Given the description of an element on the screen output the (x, y) to click on. 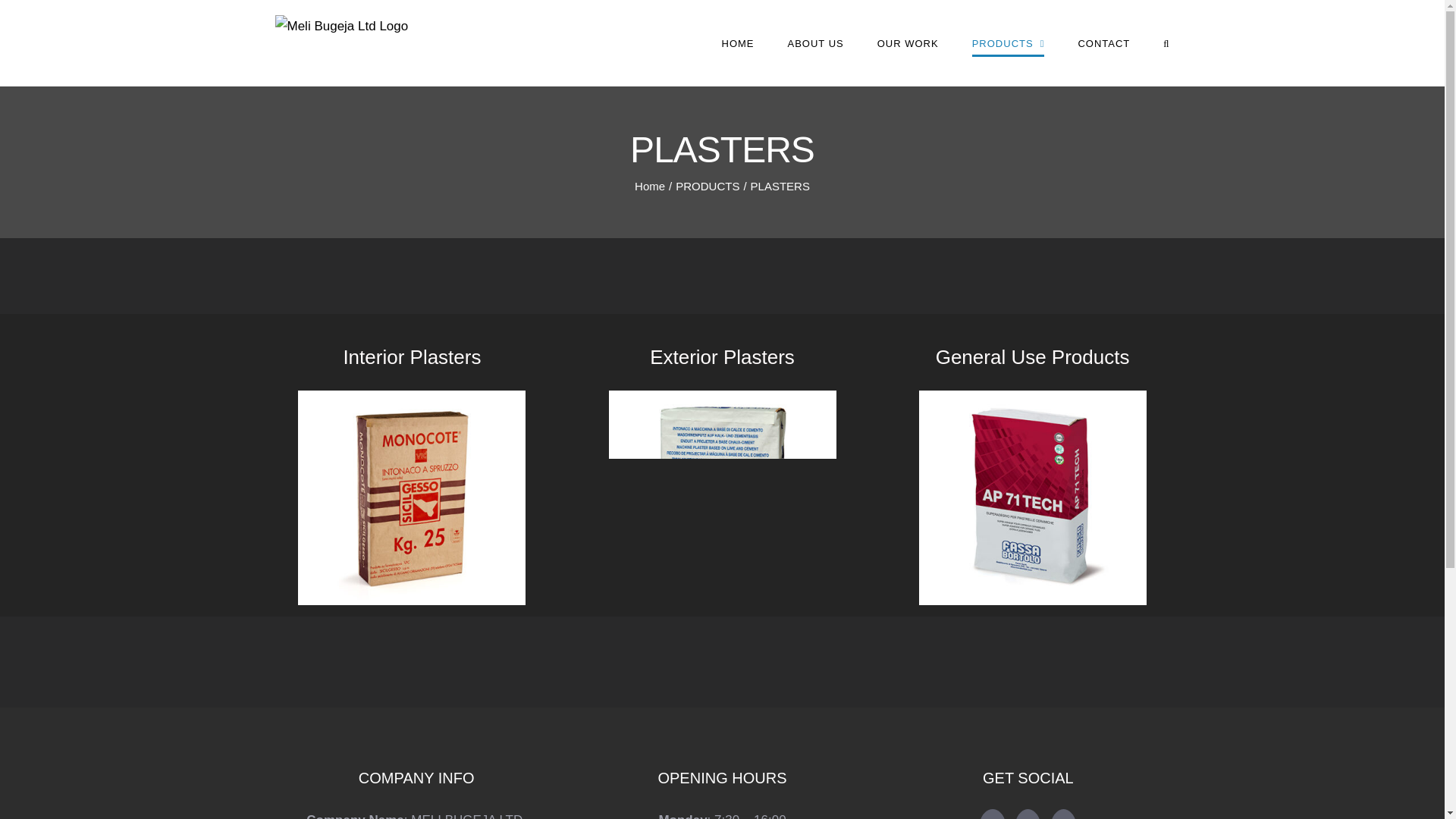
Mail (1027, 814)
Phone (1063, 814)
Facebook (992, 814)
